Given the description of an element on the screen output the (x, y) to click on. 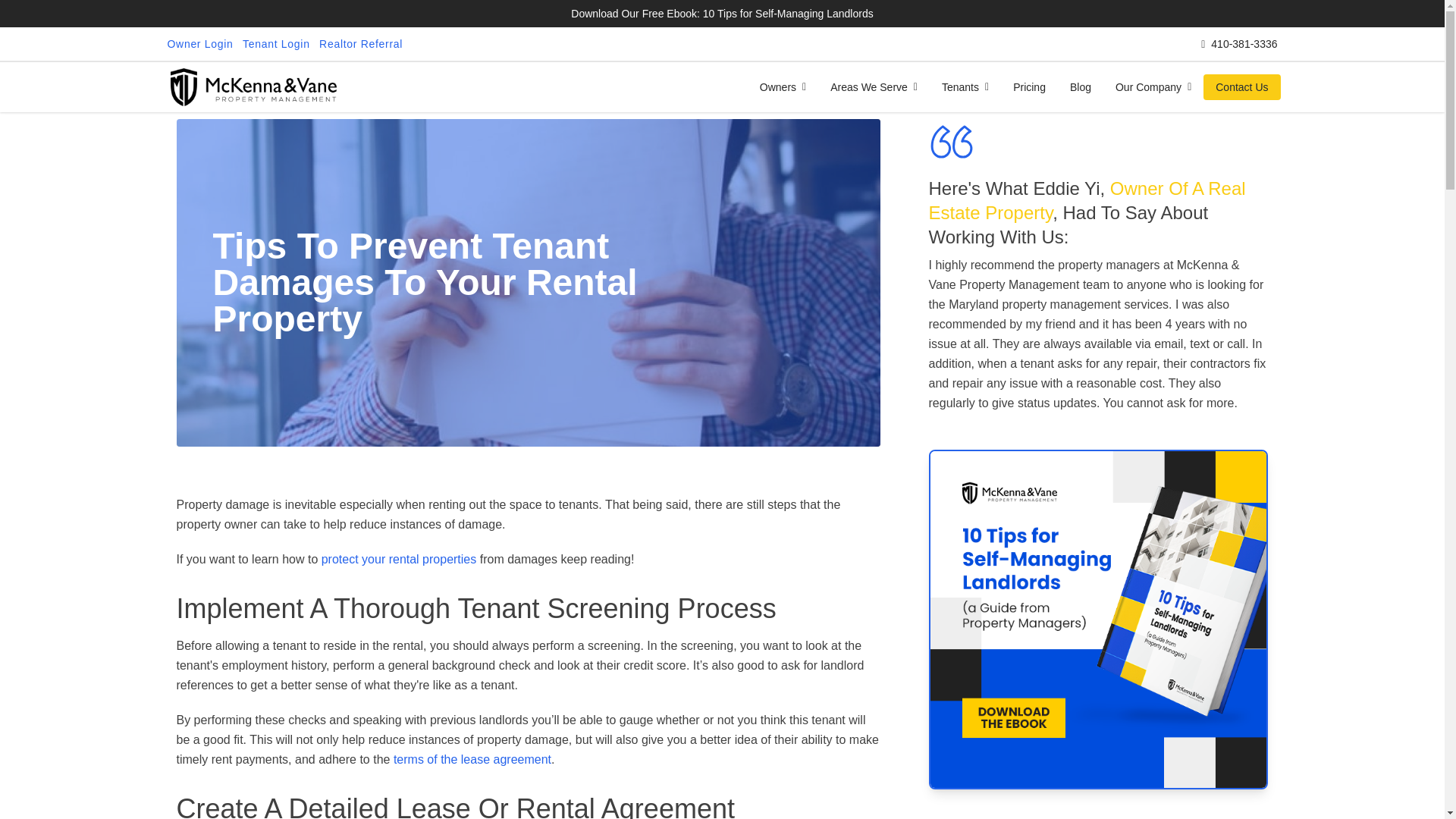
Blog (1080, 86)
410-381-3336 (1238, 43)
Realtor Referral (360, 44)
Owner Login (199, 44)
Contact Us (1241, 86)
protect your rental properties (399, 558)
Pricing (1029, 86)
Tenant Login (276, 44)
